Given the description of an element on the screen output the (x, y) to click on. 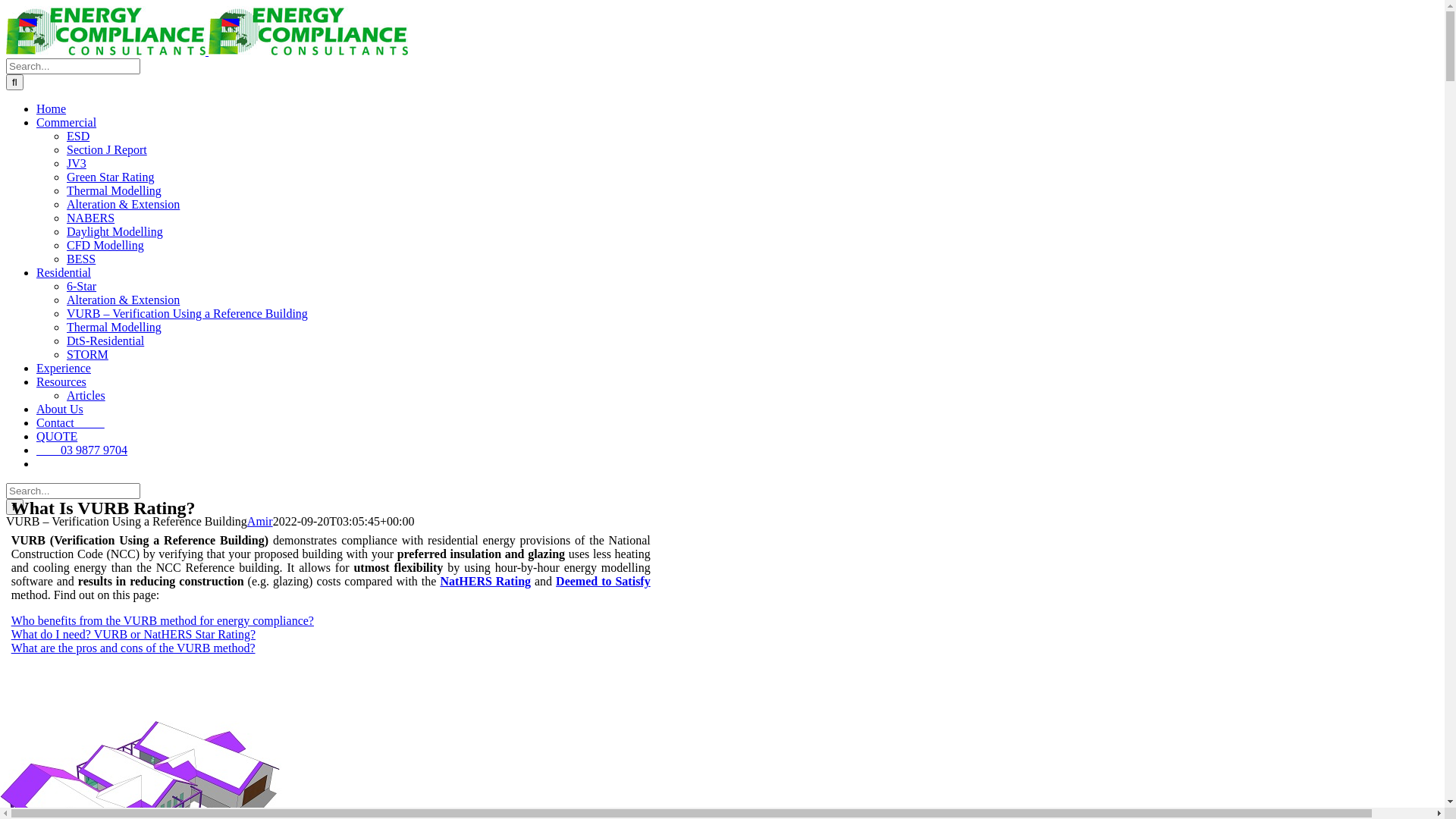
What do I need? VURB or NatHERS Star Rating? Element type: text (133, 633)
Who benefits from the VURB method for energy compliance? Element type: text (162, 620)
Articles Element type: text (85, 395)
Amir Element type: text (260, 520)
JV3 Element type: text (76, 162)
BESS Element type: text (80, 258)
STORM Element type: text (87, 354)
Section J Report Element type: text (106, 149)
Daylight Modelling Element type: text (114, 231)
ESD Element type: text (77, 135)
Residential Element type: text (63, 272)
QUOTE Element type: text (56, 435)
Thermal Modelling Element type: text (113, 326)
Deemed to Satisfy Element type: text (602, 580)
Skip to content Element type: text (5, 5)
CFD Modelling Element type: text (105, 244)
About Us Element type: text (59, 408)
Contact           Element type: text (70, 422)
NABERS Element type: text (90, 217)
DtS-Residential Element type: text (105, 340)
Green Star Rating Element type: text (110, 176)
NatHERS Rating Element type: text (484, 580)
Alteration & Extension Element type: text (122, 299)
Home Element type: text (50, 108)
What are the pros and cons of the VURB method? Element type: text (133, 647)
Thermal Modelling Element type: text (113, 190)
6-Star Element type: text (81, 285)
Commercial Element type: text (66, 122)
Experience Element type: text (63, 367)
        03 9877 9704 Element type: text (81, 449)
Alteration & Extension Element type: text (122, 203)
Resources Element type: text (61, 381)
